Given the description of an element on the screen output the (x, y) to click on. 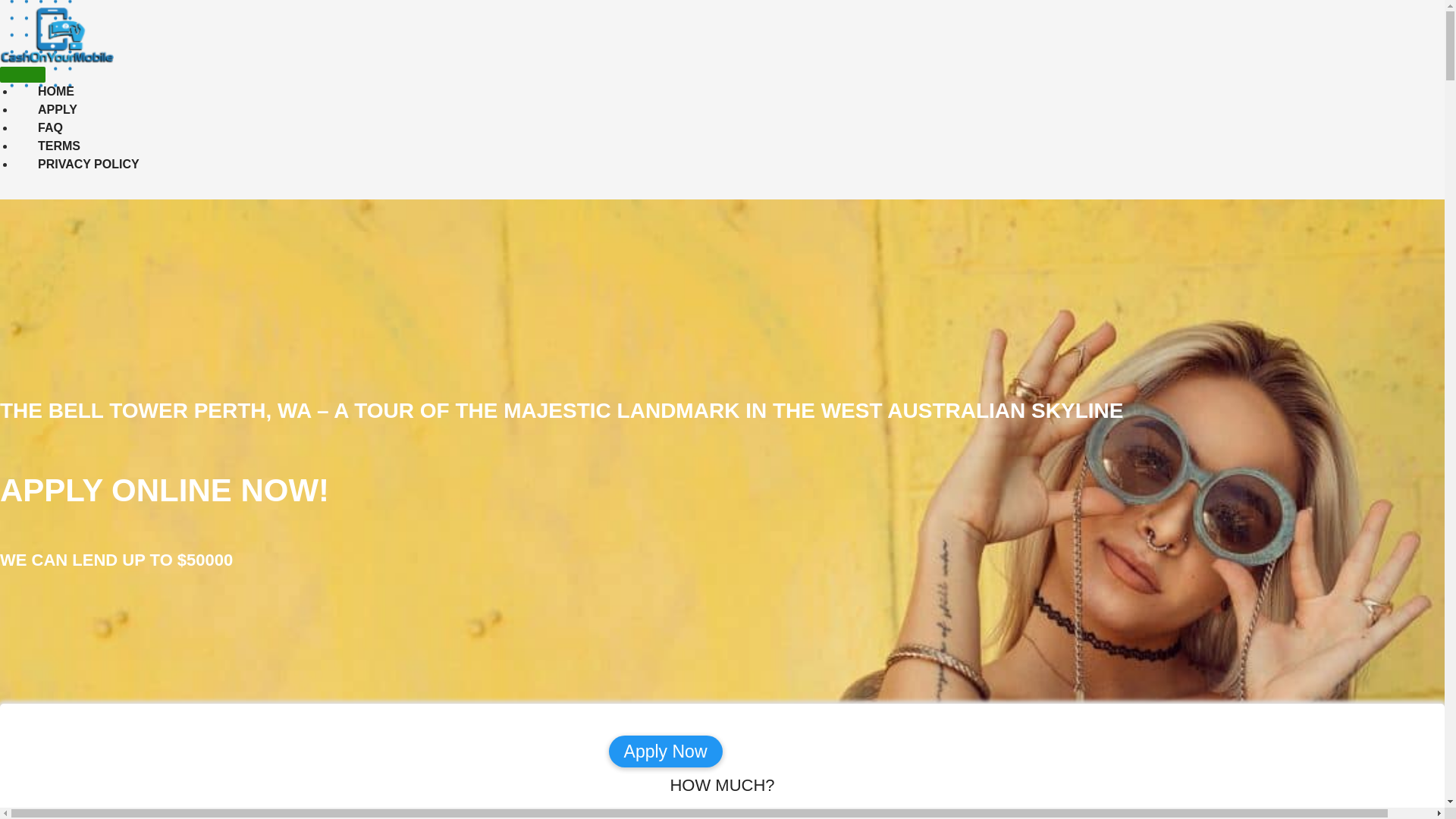
FAQ (38, 127)
TERMS (47, 145)
APPLY (45, 109)
HOME (44, 91)
PRIVACY POLICY (76, 164)
